Given the description of an element on the screen output the (x, y) to click on. 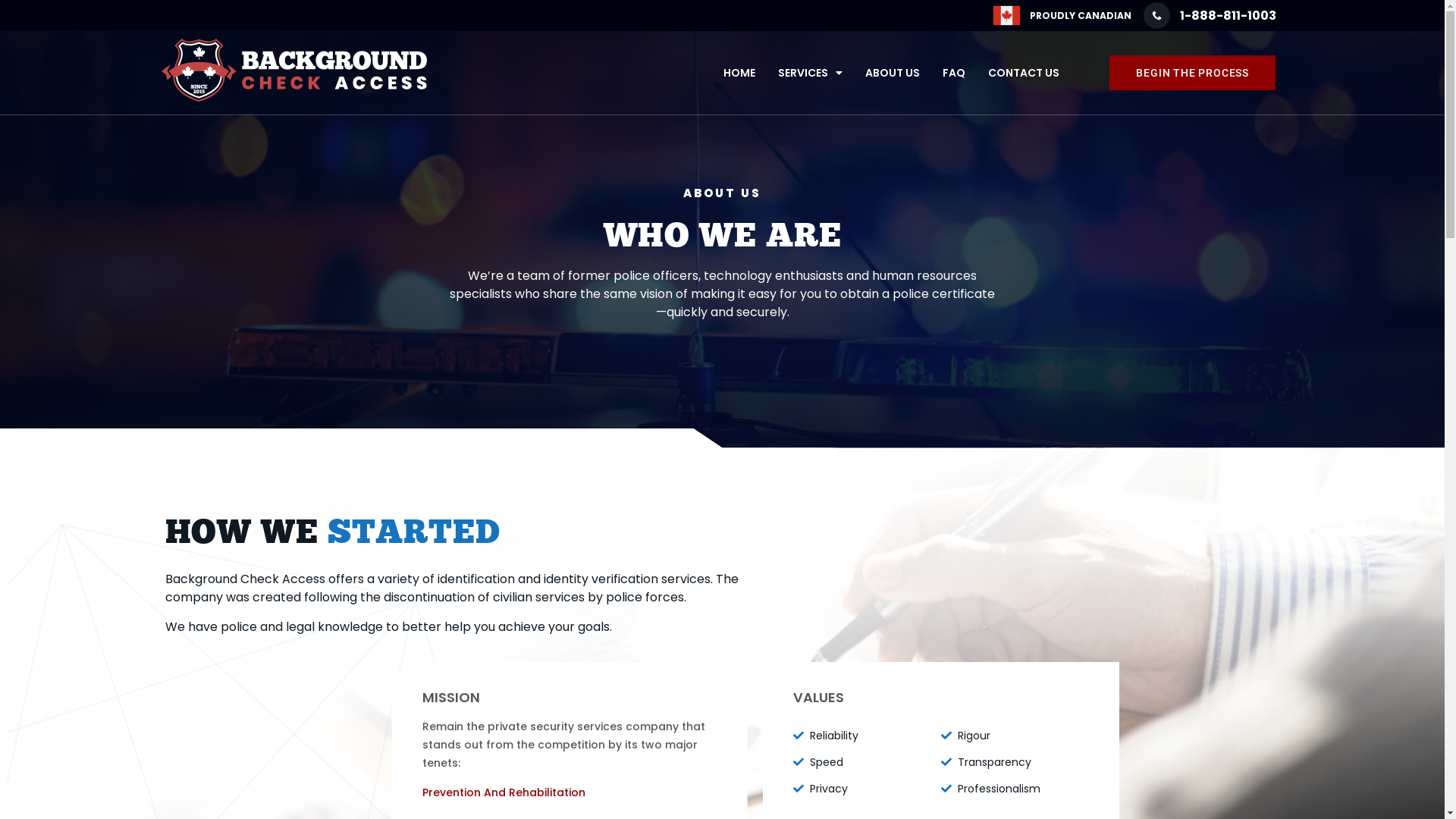
SERVICES Element type: text (809, 72)
CONTACT US Element type: text (1023, 72)
Prevention And Rehabilitation Element type: text (503, 792)
HOME Element type: text (739, 72)
1-888-811-1003 Element type: text (1209, 15)
BEGIN THE PROCESS Element type: text (1192, 73)
FAQ Element type: text (953, 72)
ABOUT US Element type: text (892, 72)
